Given the description of an element on the screen output the (x, y) to click on. 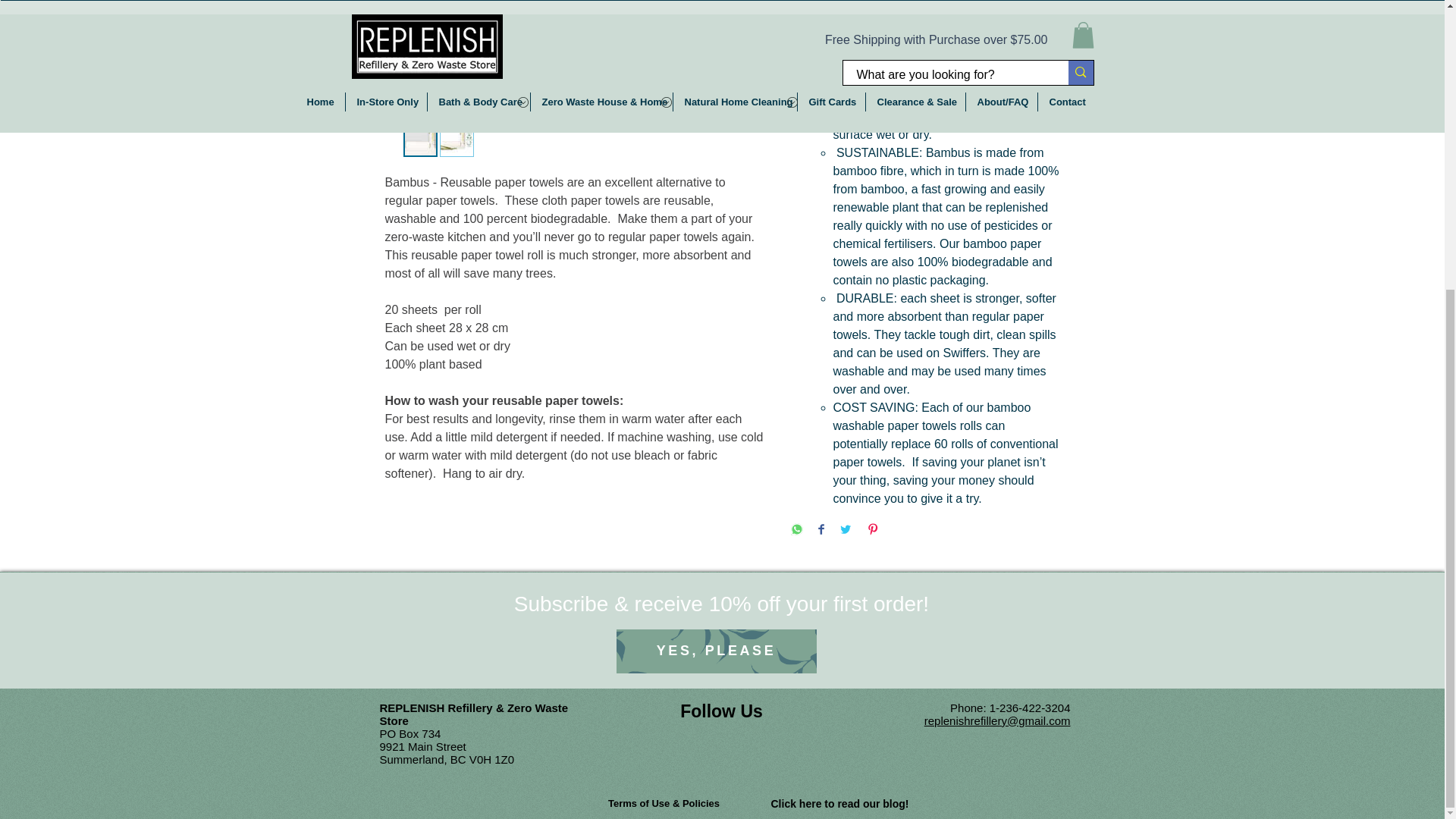
YES, PLEASE (715, 651)
Click here to read our blog! (839, 803)
